Given the description of an element on the screen output the (x, y) to click on. 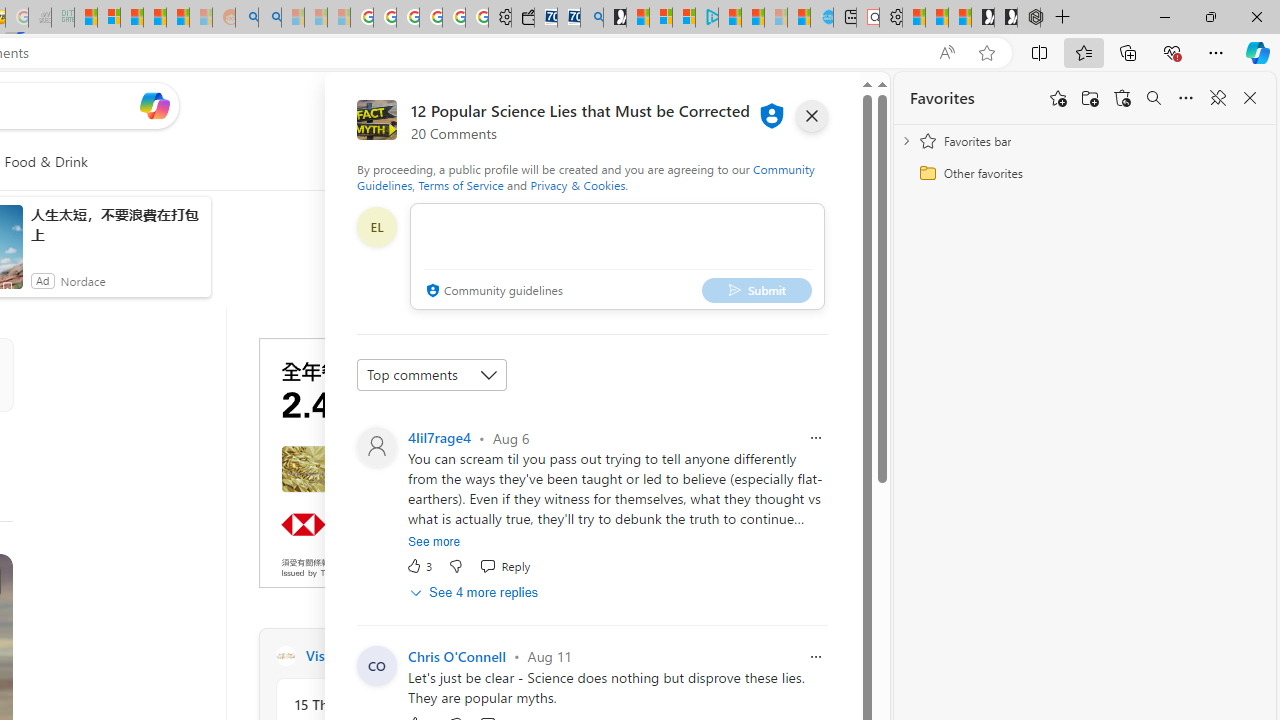
Bing Real Estate - Home sales and rental listings (591, 17)
Sort comments by (431, 374)
3 Like (419, 565)
Wallet (522, 17)
Unpin favorites (1217, 98)
Restore deleted favorites (1122, 98)
Search favorites (1153, 98)
Close favorites (1250, 98)
